Given the description of an element on the screen output the (x, y) to click on. 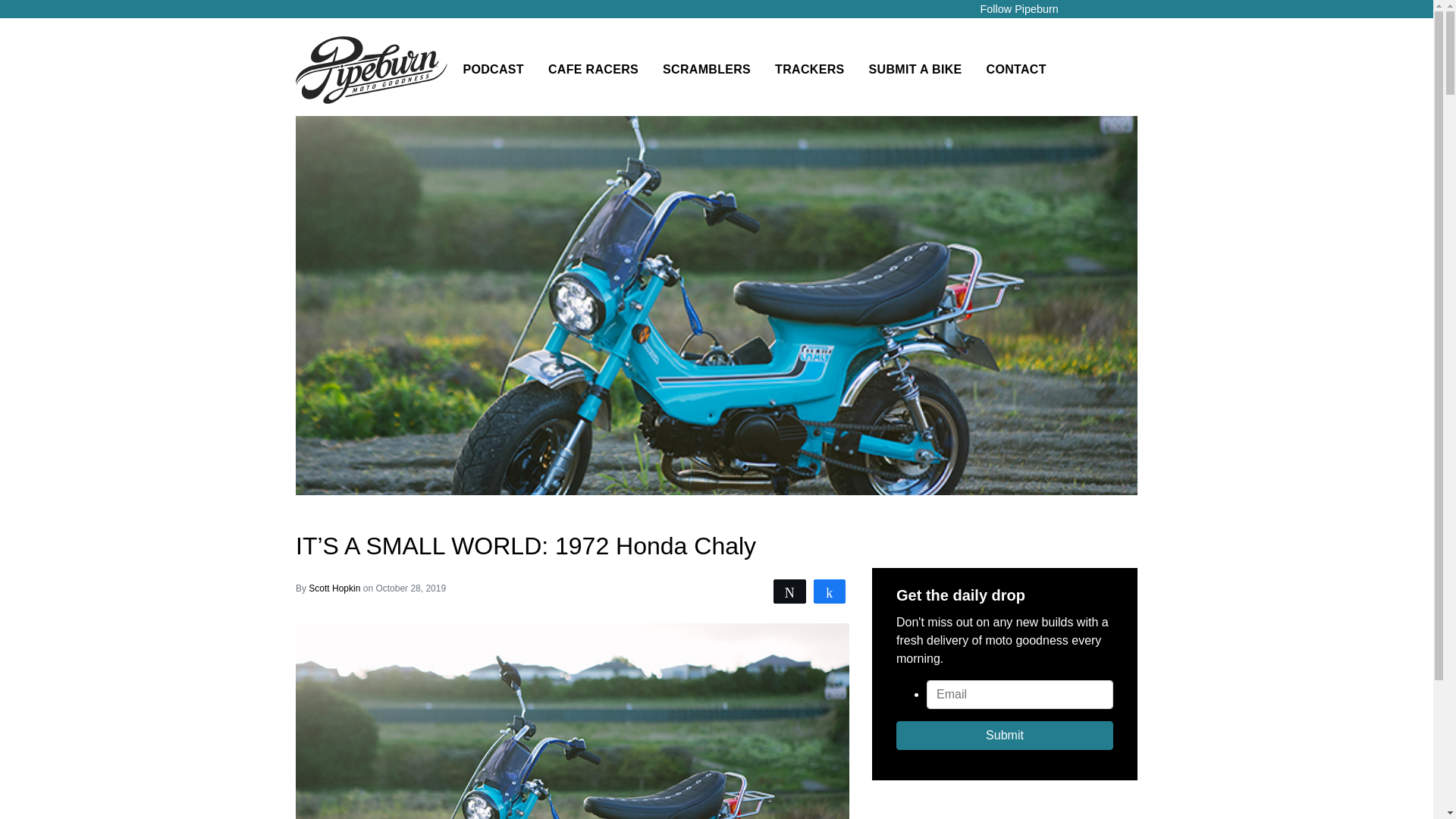
Submit (1004, 735)
Scott Hopkin (335, 588)
SCRAMBLERS (706, 69)
CONTACT (1016, 69)
CAFE RACERS (592, 69)
543 (829, 590)
PODCAST (492, 69)
SUBMIT A BIKE (915, 69)
TRACKERS (809, 69)
